Given the description of an element on the screen output the (x, y) to click on. 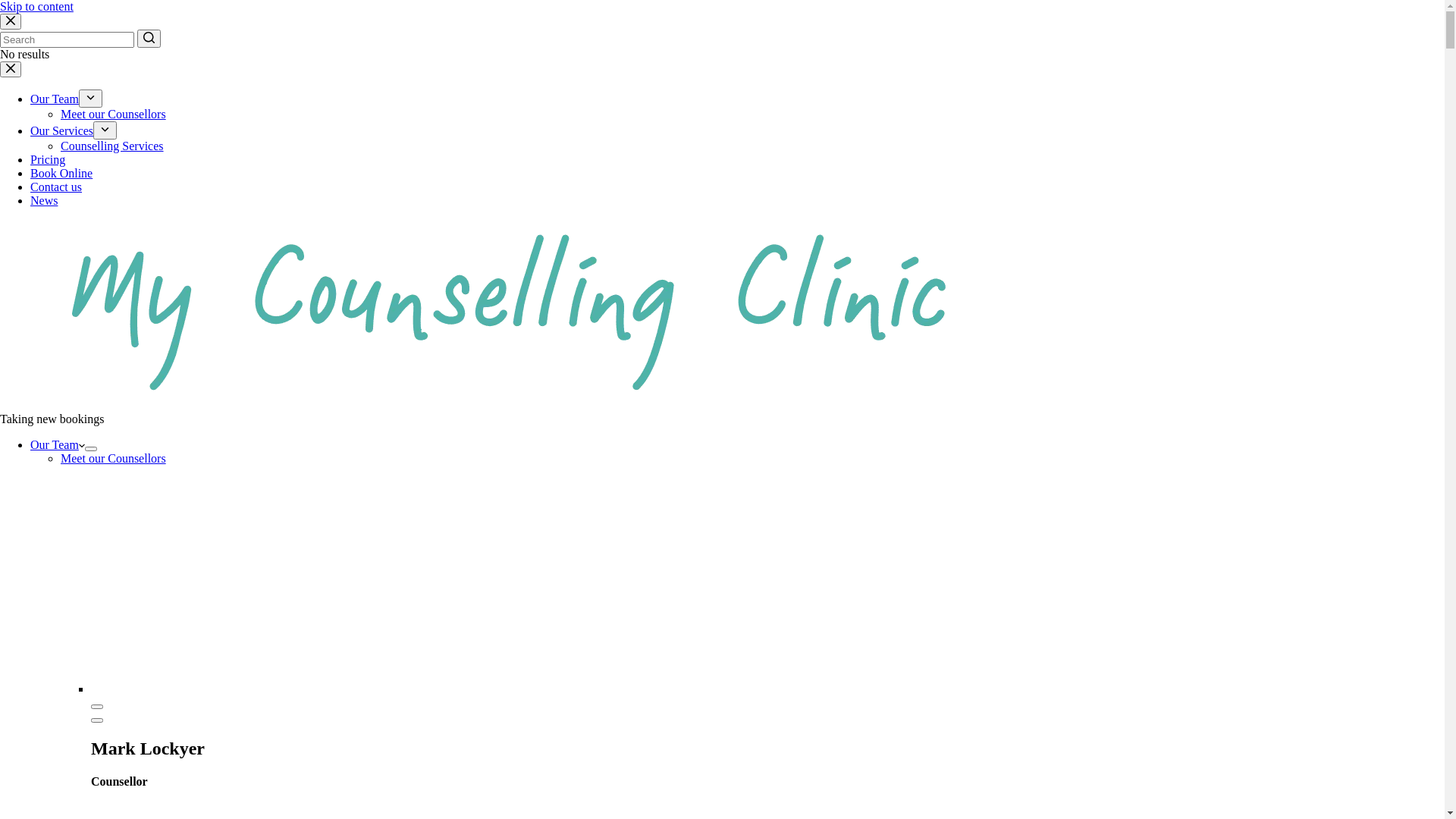
Contact us Element type: text (55, 186)
News Element type: text (43, 200)
Skip to content Element type: text (36, 6)
Our Team Element type: text (57, 444)
Search for... Element type: hover (67, 39)
View Profile Element type: hover (97, 706)
Our Services Element type: text (61, 130)
Book Online Element type: text (61, 172)
Meet our Counsellors Element type: text (113, 113)
Our Team Element type: text (54, 98)
Counselling Services Element type: text (111, 145)
Pricing Element type: text (47, 159)
Meet our Counsellors Element type: text (113, 457)
